Given the description of an element on the screen output the (x, y) to click on. 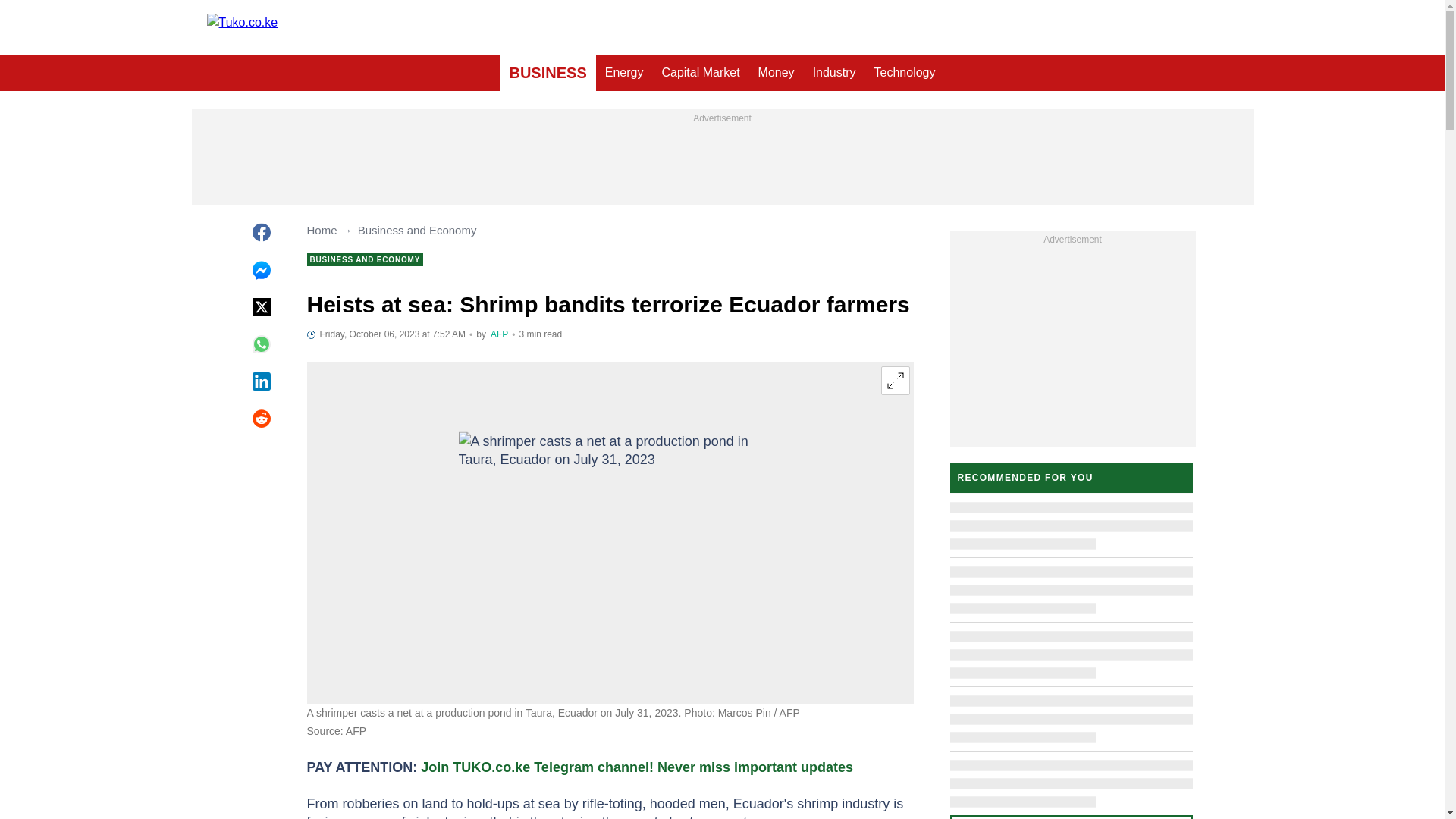
Money (776, 72)
Energy (623, 72)
Expand image (895, 380)
Industry (833, 72)
Technology (904, 72)
BUSINESS (547, 72)
Capital Market (700, 72)
Author page (499, 334)
